Given the description of an element on the screen output the (x, y) to click on. 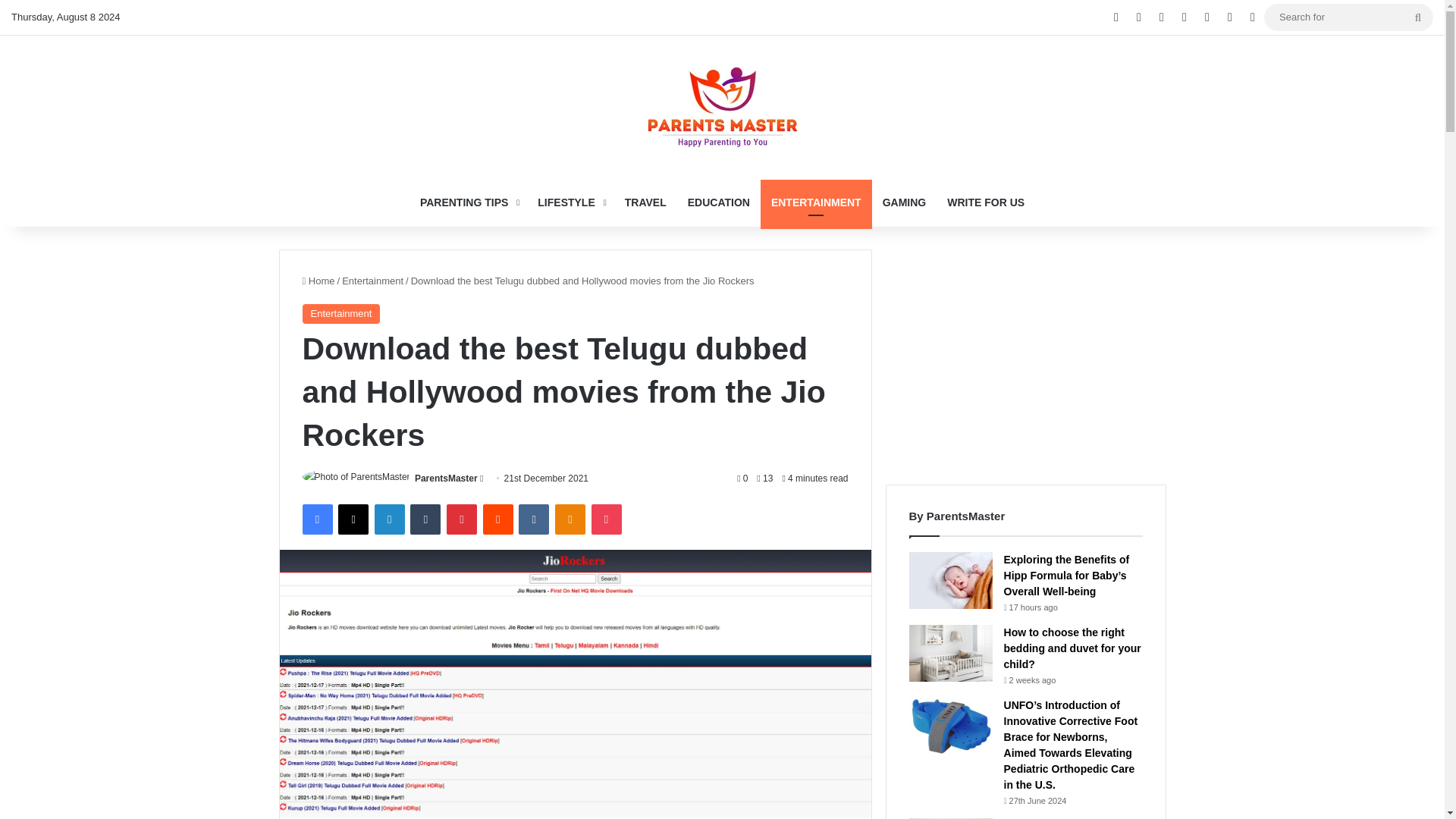
LinkedIn (389, 519)
ENTERTAINMENT (816, 201)
Odnoklassniki (569, 519)
PARENTING TIPS (468, 201)
WRITE FOR US (985, 201)
Reddit (498, 519)
Pocket (606, 519)
Search for (1347, 16)
VKontakte (533, 519)
Parents Master (721, 106)
